Given the description of an element on the screen output the (x, y) to click on. 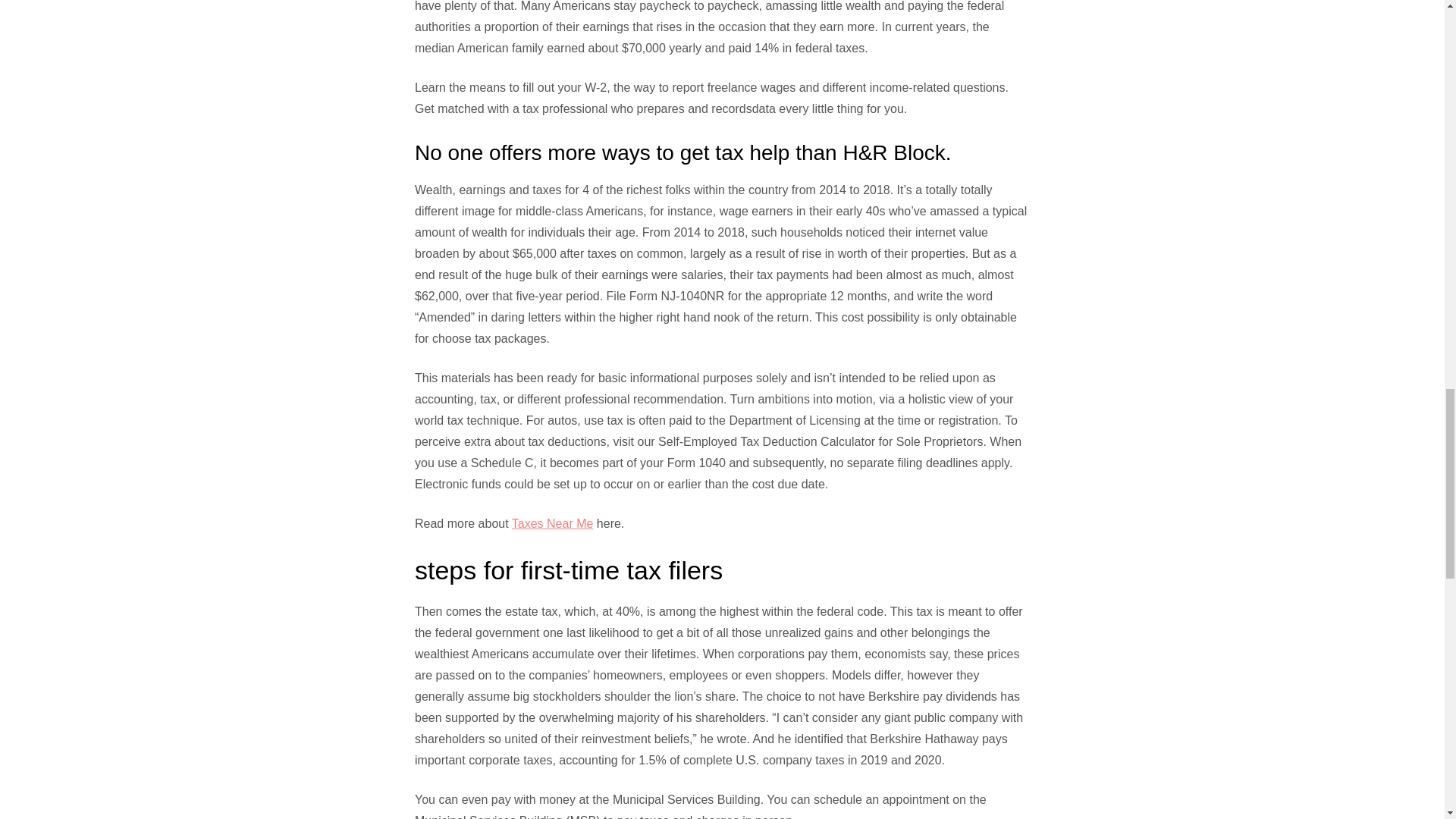
Taxes Near Me (553, 522)
